Given the description of an element on the screen output the (x, y) to click on. 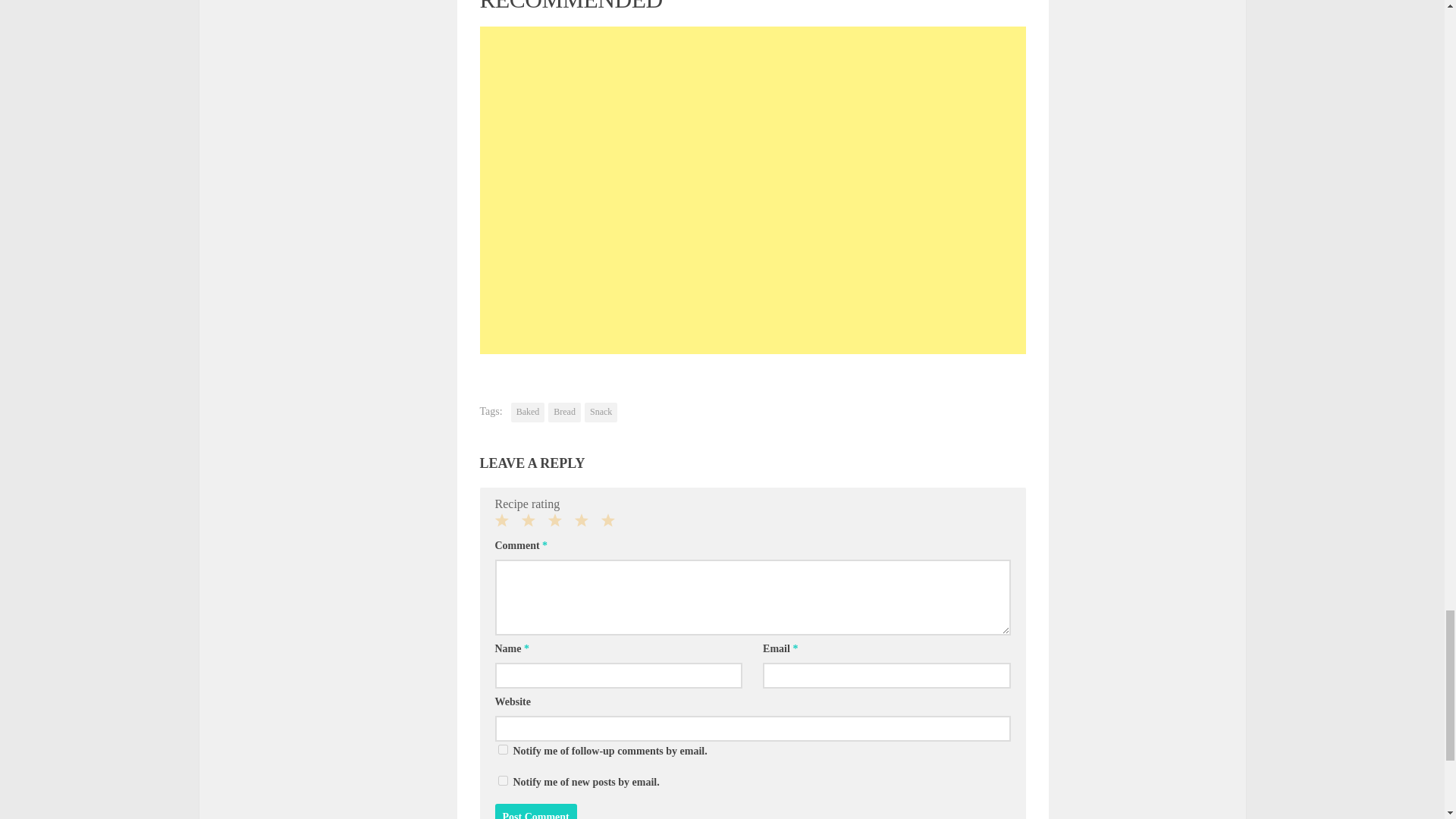
subscribe (501, 780)
Post Comment (535, 811)
subscribe (501, 749)
